Given the description of an element on the screen output the (x, y) to click on. 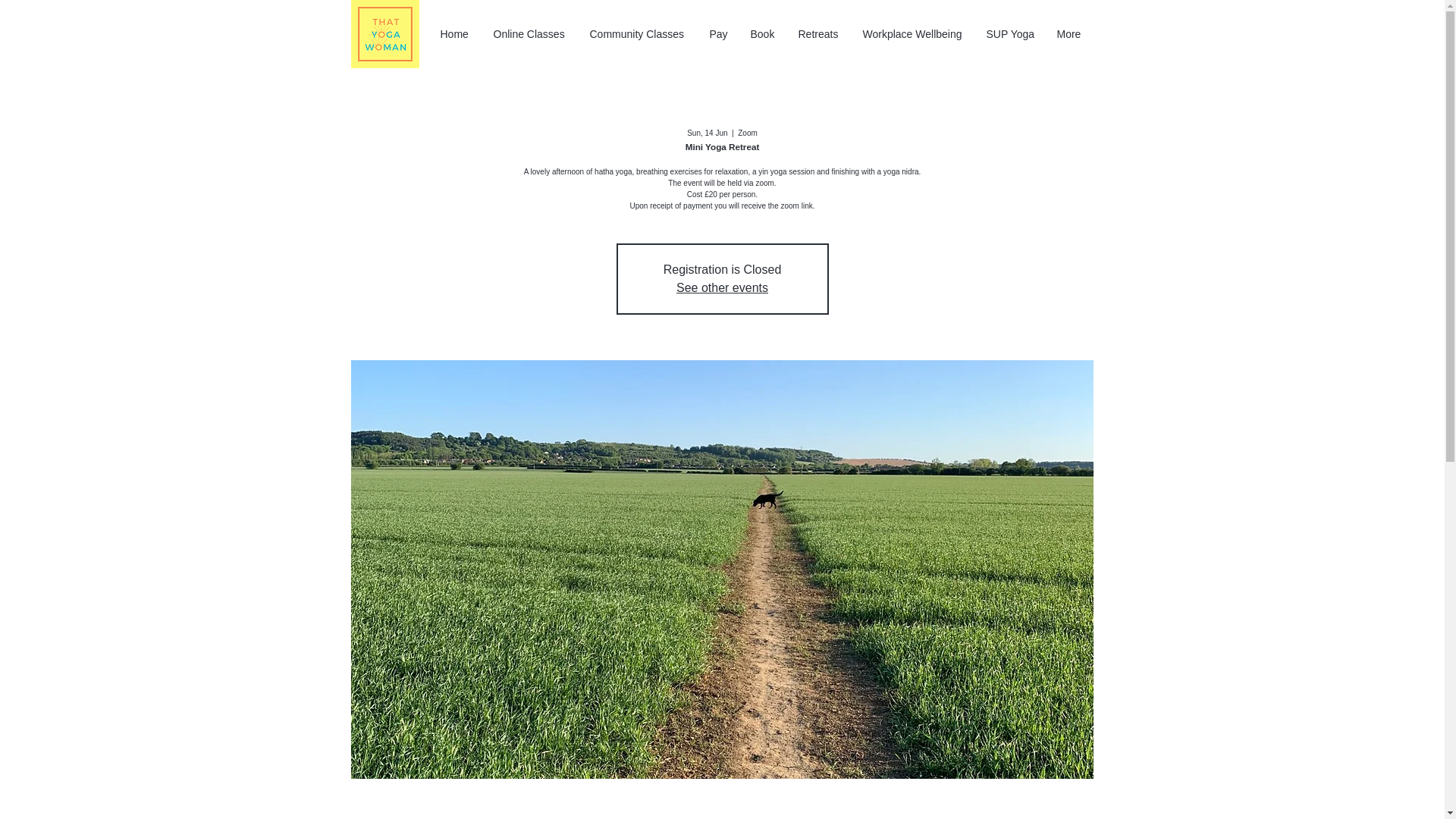
Pay (717, 34)
Community Classes (637, 34)
Retreats (819, 34)
See other events (722, 287)
Workplace Wellbeing (912, 34)
SUP Yoga (1010, 34)
Book (762, 34)
Online Classes (529, 34)
Home (455, 34)
